Given the description of an element on the screen output the (x, y) to click on. 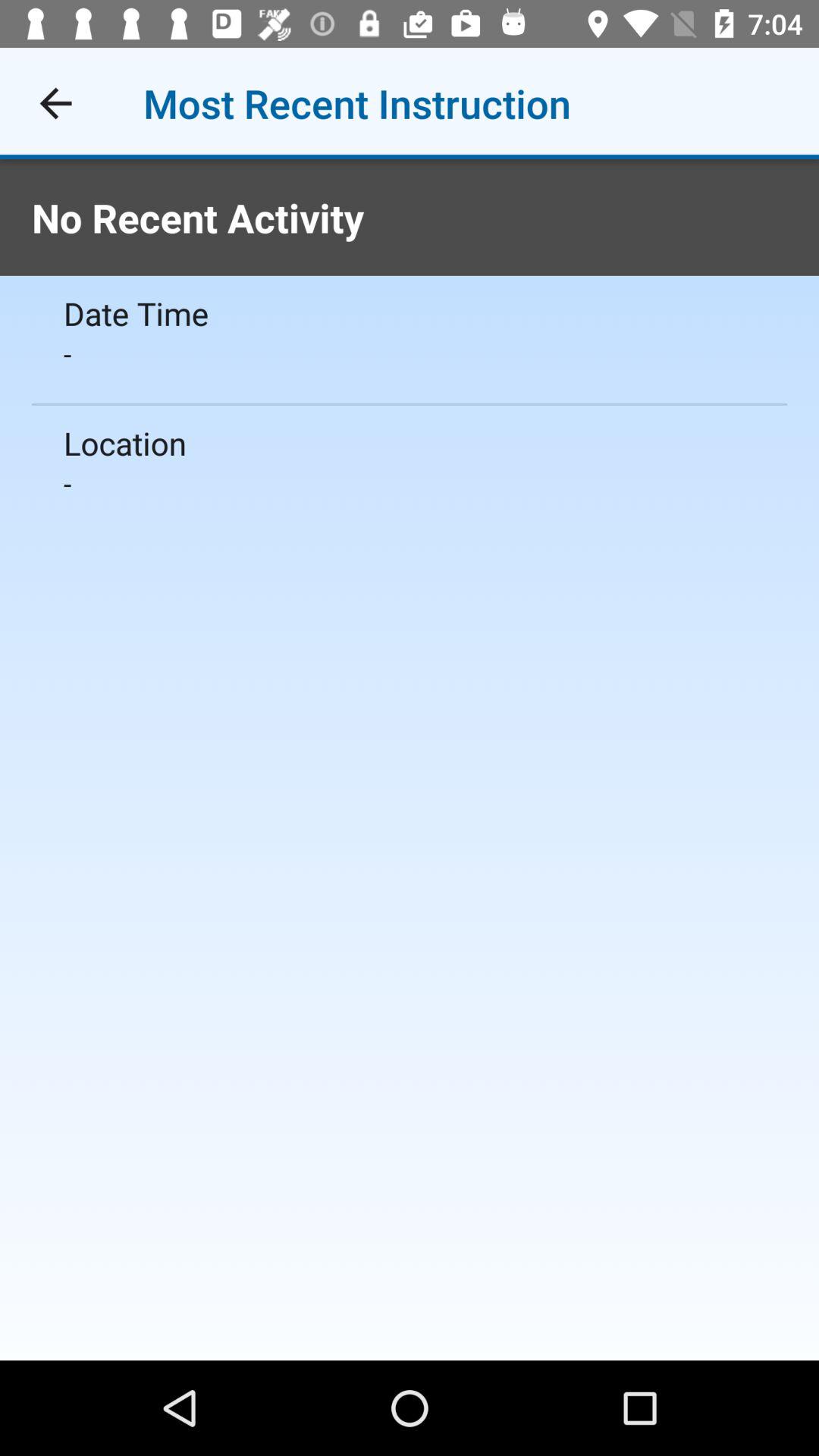
tap icon above no recent activity icon (55, 103)
